Given the description of an element on the screen output the (x, y) to click on. 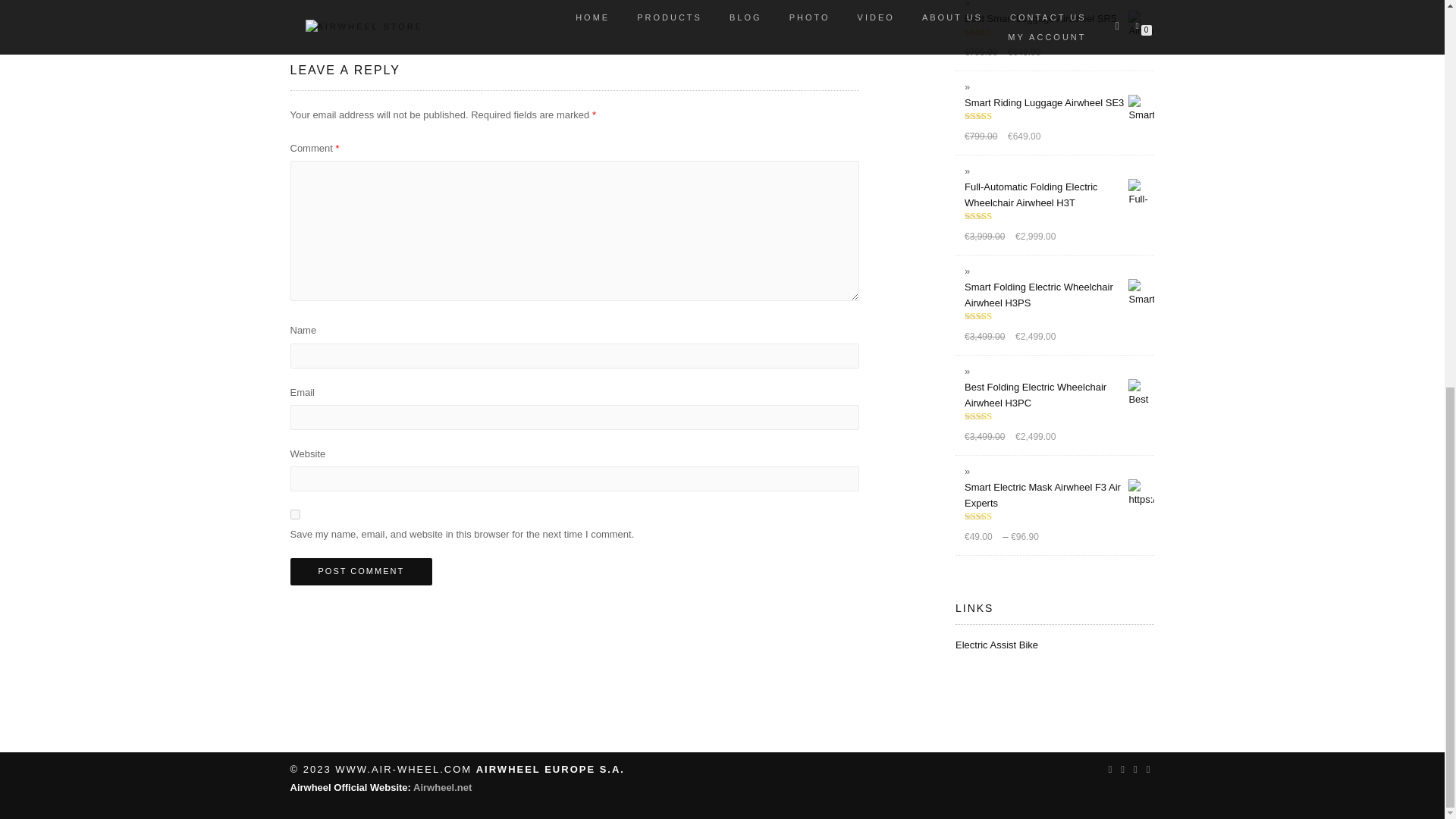
Smart Riding Luggage Airwheel SE3 (1058, 102)
Electric Assist Bike (996, 644)
Post Comment (360, 571)
Airwheel.net (442, 787)
Smart Electric Mask Airwheel F3 Air Experts (1058, 495)
Electric Assist Bike (996, 644)
Airwheel (442, 787)
Post Comment (360, 571)
Smart Folding Electric Wheelchair Airwheel H3PS (1058, 295)
yes (294, 514)
Best Smart Luggage Airwheel SR5 (1058, 18)
Full-Automatic Folding Electric Wheelchair Airwheel H3T (1058, 194)
Best Folding Electric Wheelchair Airwheel H3PC (1058, 395)
